Given the description of an element on the screen output the (x, y) to click on. 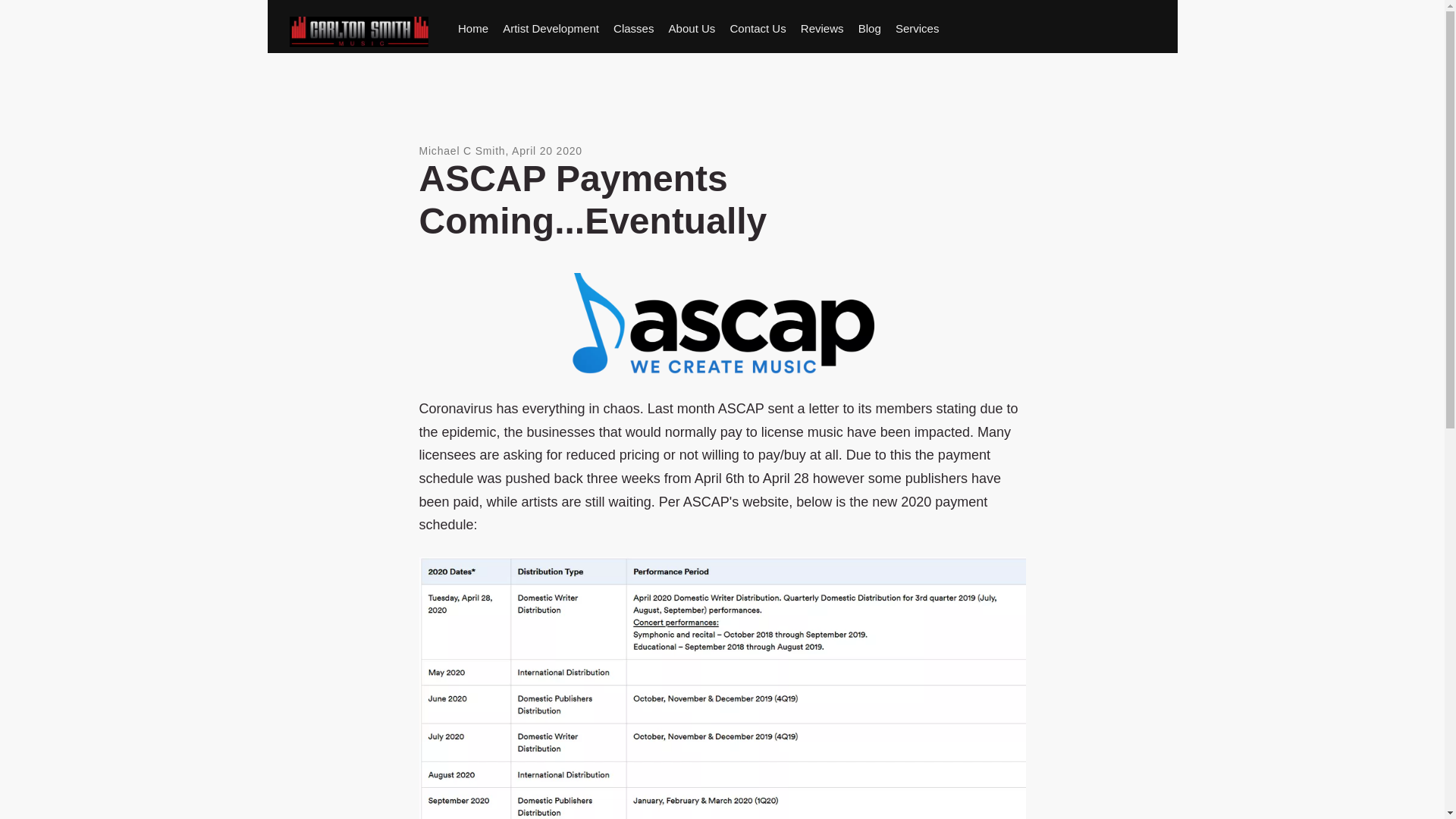
Carlton Smith Music Logo (358, 31)
About Us (691, 28)
Reviews (821, 28)
Home (472, 28)
Classes (633, 28)
Artist Development (551, 28)
Services (916, 28)
Contact Us (757, 28)
Blog (868, 28)
